Given the description of an element on the screen output the (x, y) to click on. 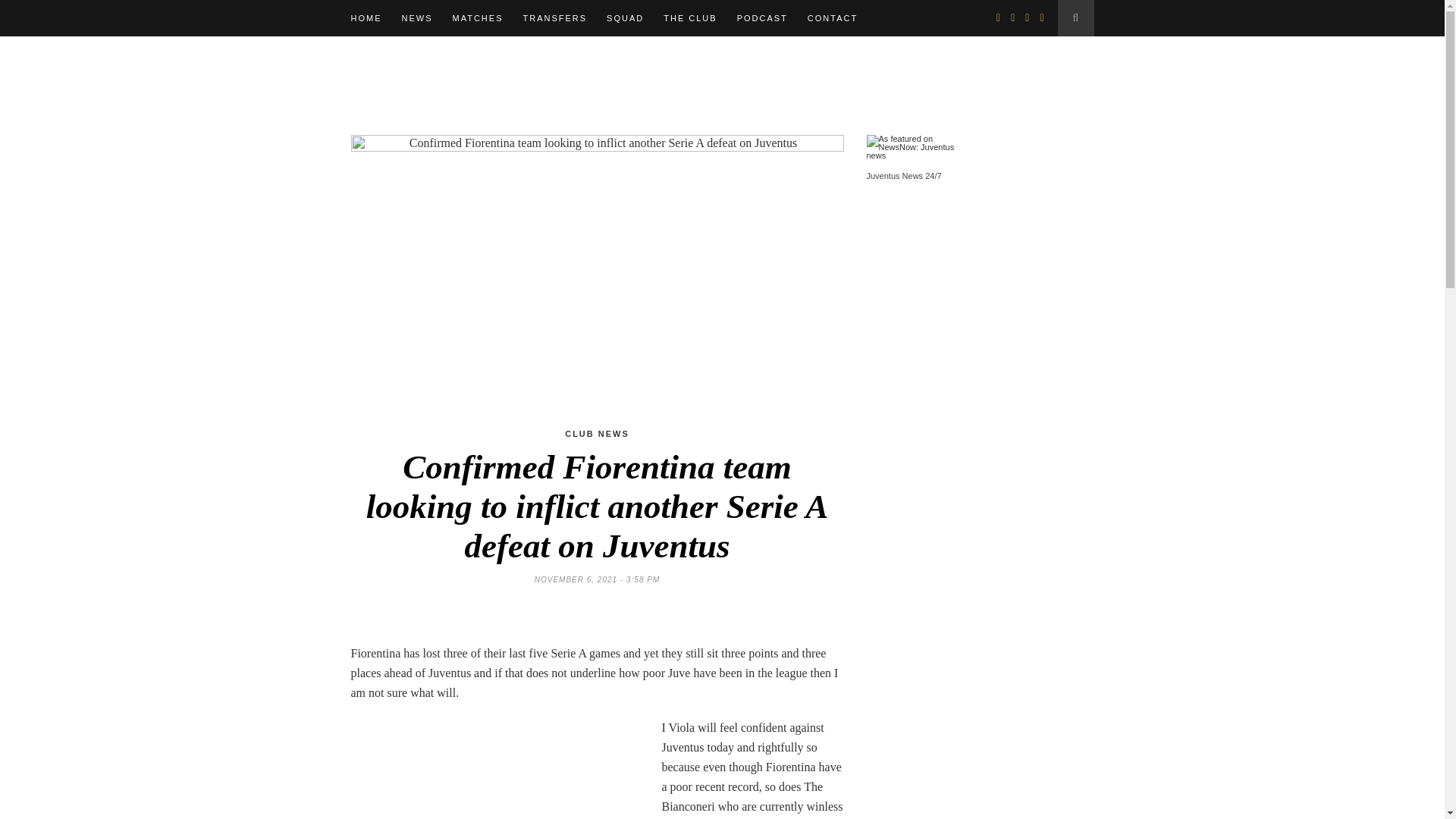
TRANSFERS (554, 18)
THE CLUB (689, 18)
CONTACT (832, 18)
SQUAD (625, 18)
Matches (476, 18)
MATCHES (476, 18)
PODCAST (761, 18)
Squad (625, 18)
View all posts in Club News (596, 433)
